Given the description of an element on the screen output the (x, y) to click on. 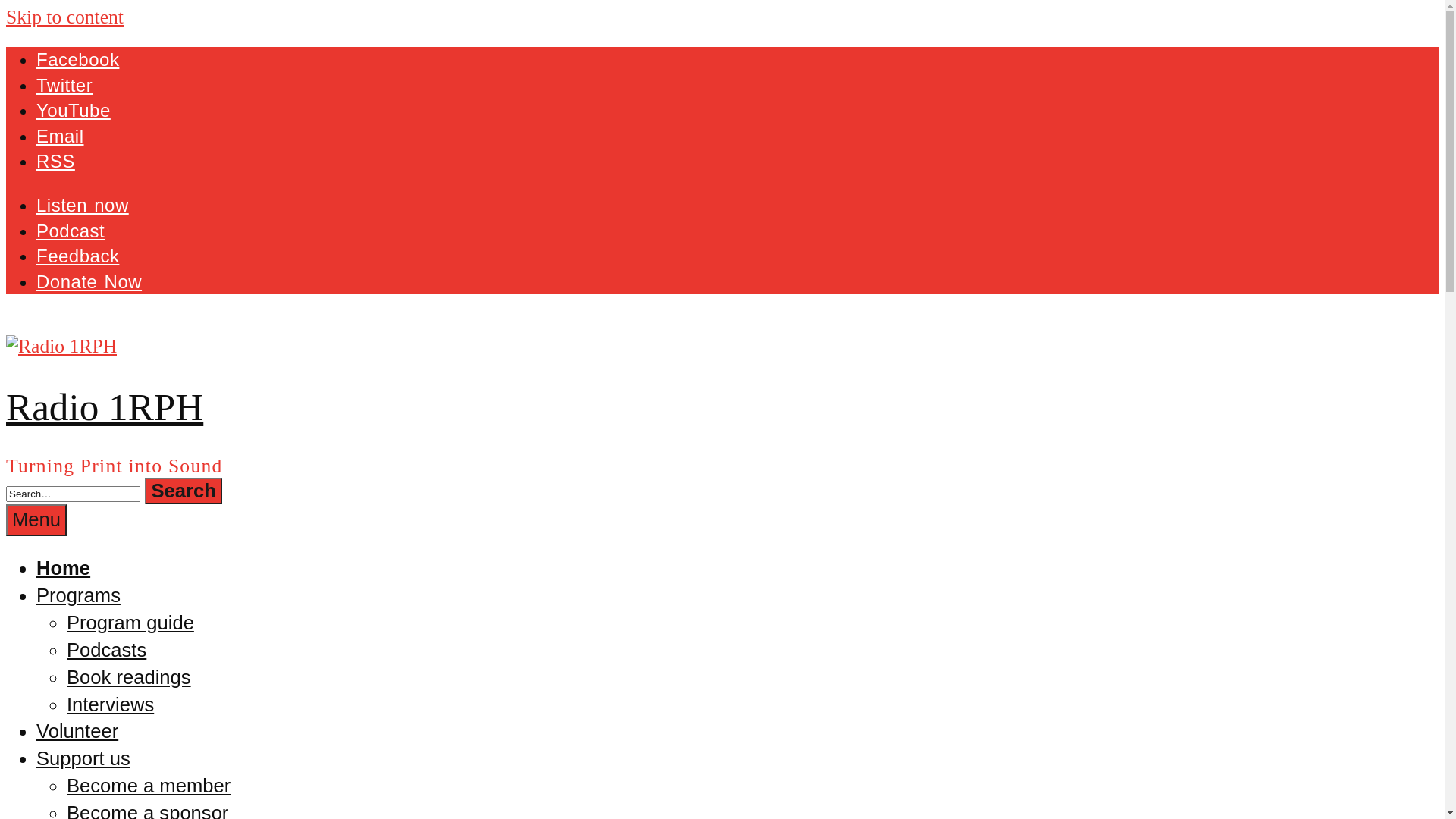
Podcasts Element type: text (106, 649)
Email Element type: text (60, 135)
Radio 1RPH Element type: text (104, 406)
Search Element type: text (182, 490)
Facebook Element type: text (77, 59)
Program guide Element type: text (130, 622)
Menu Element type: text (36, 520)
Feedback Element type: text (77, 255)
Support us Element type: text (83, 757)
Donate Now Element type: text (88, 281)
Press Enter to submit your search Element type: hover (73, 494)
Volunteer Element type: text (77, 730)
Twitter Element type: text (64, 85)
Become a member Element type: text (148, 785)
Podcast Element type: text (70, 230)
Programs Element type: text (78, 594)
RSS Element type: text (55, 160)
YouTube Element type: text (73, 110)
Listen now Element type: text (82, 204)
Home Element type: text (63, 567)
Skip to content Element type: text (64, 17)
Book readings Element type: text (128, 676)
Interviews Element type: text (109, 703)
